Given the description of an element on the screen output the (x, y) to click on. 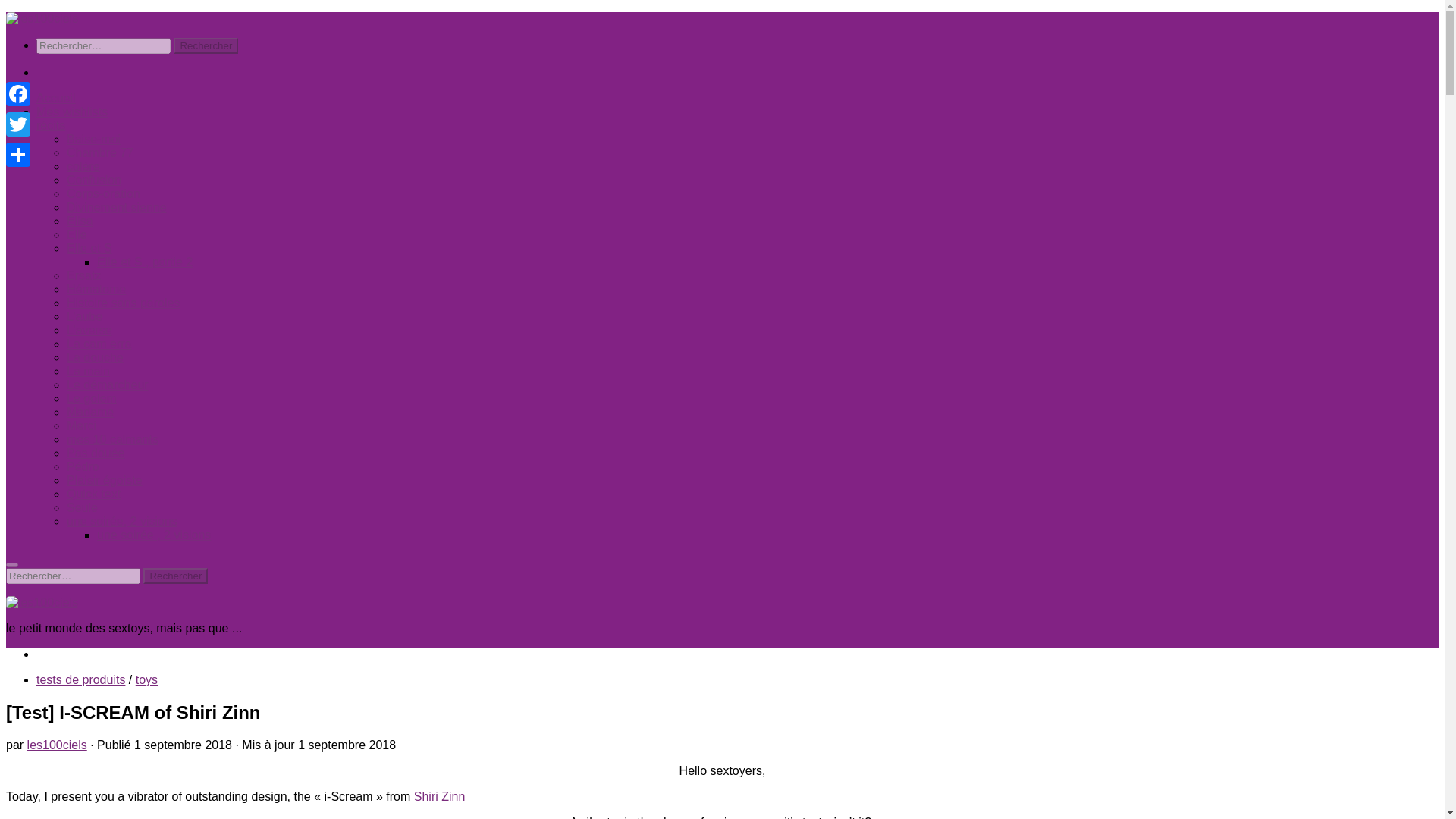
Elle et S , partie 2 (144, 261)
tests de produits (80, 679)
La main (88, 370)
Chambre 77 (99, 152)
La douche (94, 357)
Elle et S (89, 247)
Rechercher (205, 45)
Mes wishlists (71, 111)
Rechercher (175, 575)
mes 10 calmants (112, 439)
Rechercher (175, 575)
Corps-oration (102, 193)
Madame (89, 411)
Divinement sienne (116, 206)
